Given the description of an element on the screen output the (x, y) to click on. 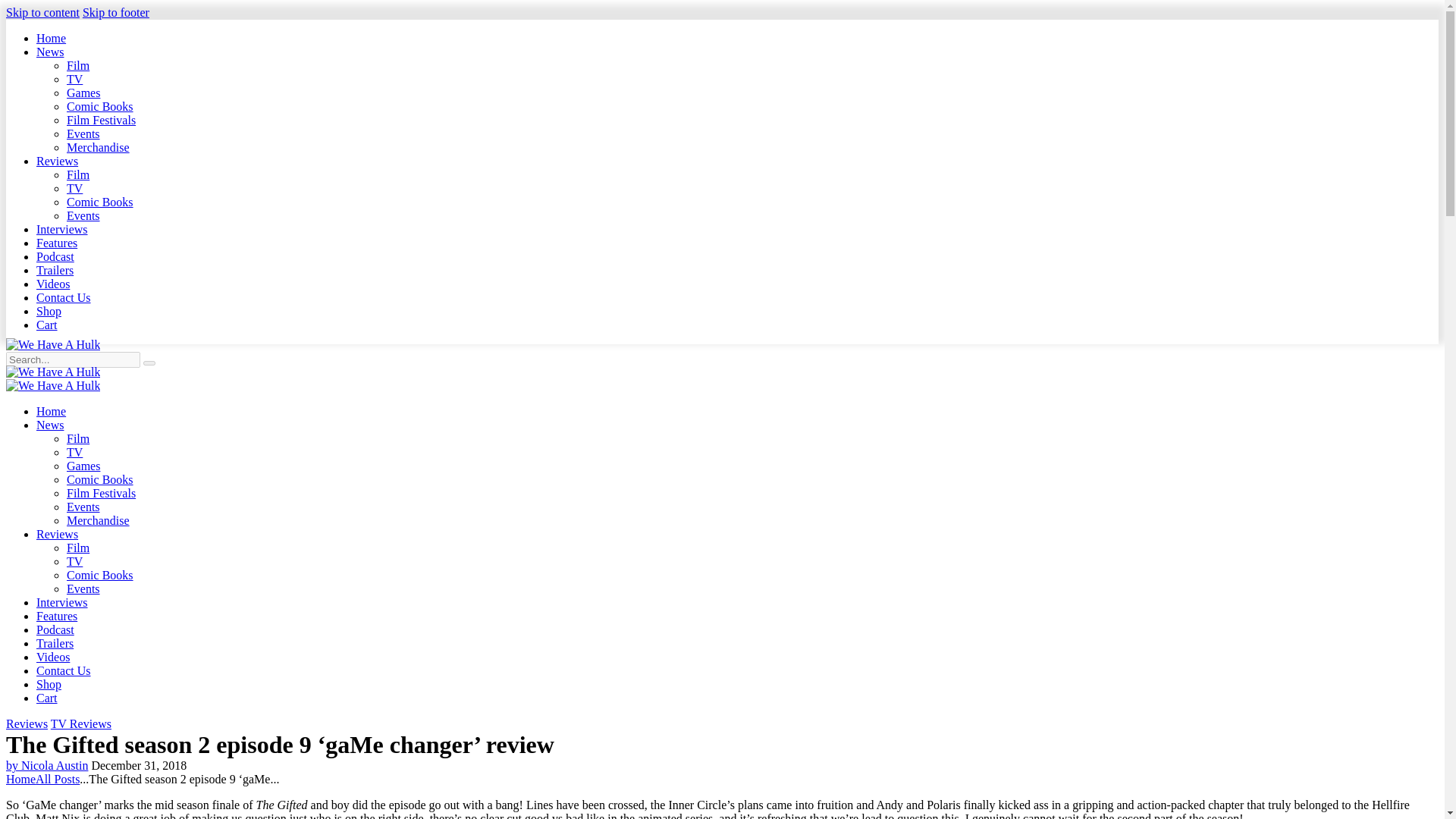
Comic Books (99, 106)
Skip to content (42, 11)
Trailers (55, 269)
Merchandise (97, 146)
Videos (52, 283)
Shop (48, 310)
Home (50, 410)
Film (77, 174)
TV (74, 187)
Interviews (61, 228)
